Given the description of an element on the screen output the (x, y) to click on. 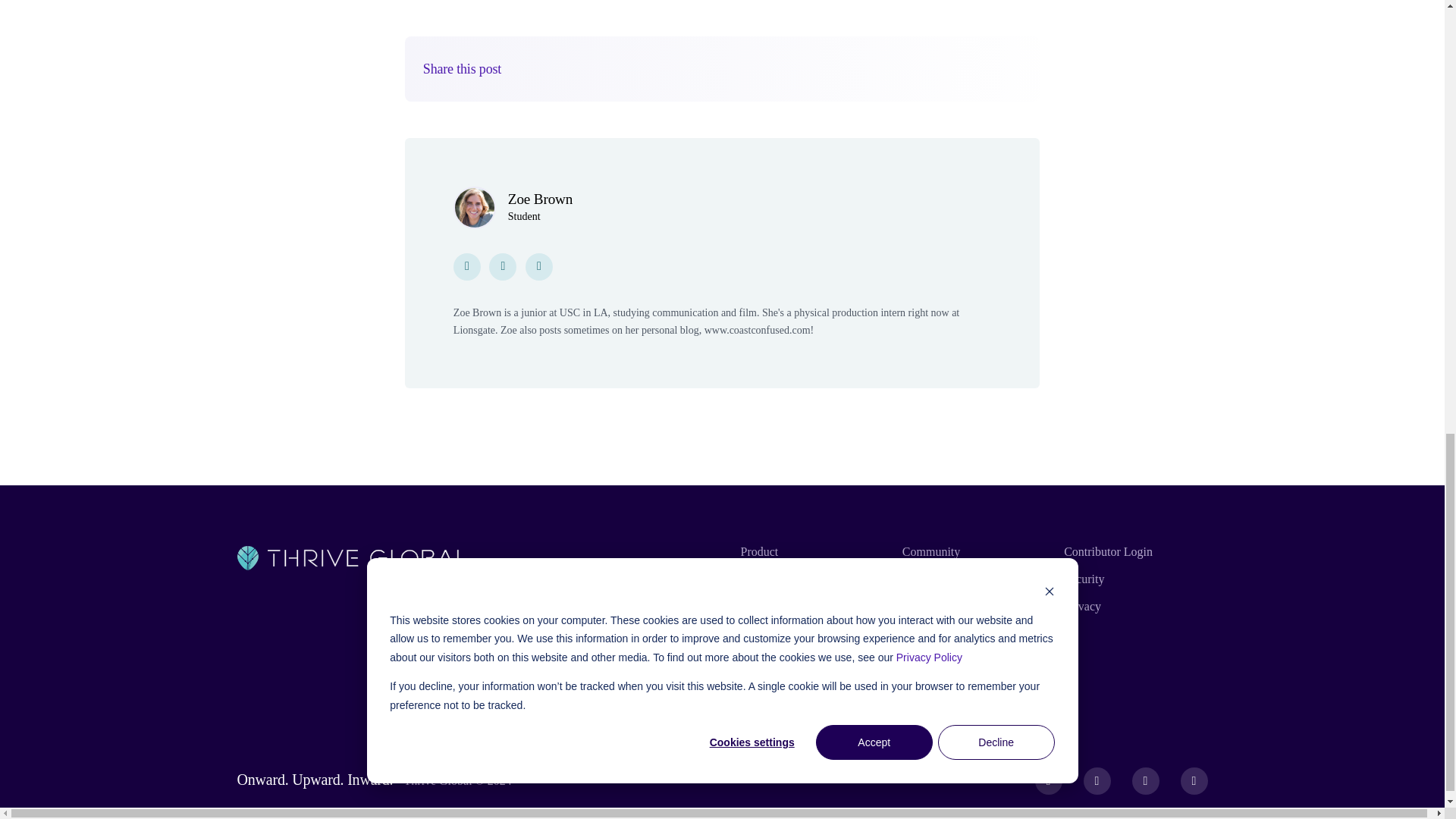
Instagram (1145, 780)
Twitter (1096, 780)
Instagram (466, 265)
LinkedIn (1194, 780)
Personal Website (539, 265)
Facebook (1048, 780)
Zoe Brown (540, 198)
LinkedIn (502, 265)
